Given the description of an element on the screen output the (x, y) to click on. 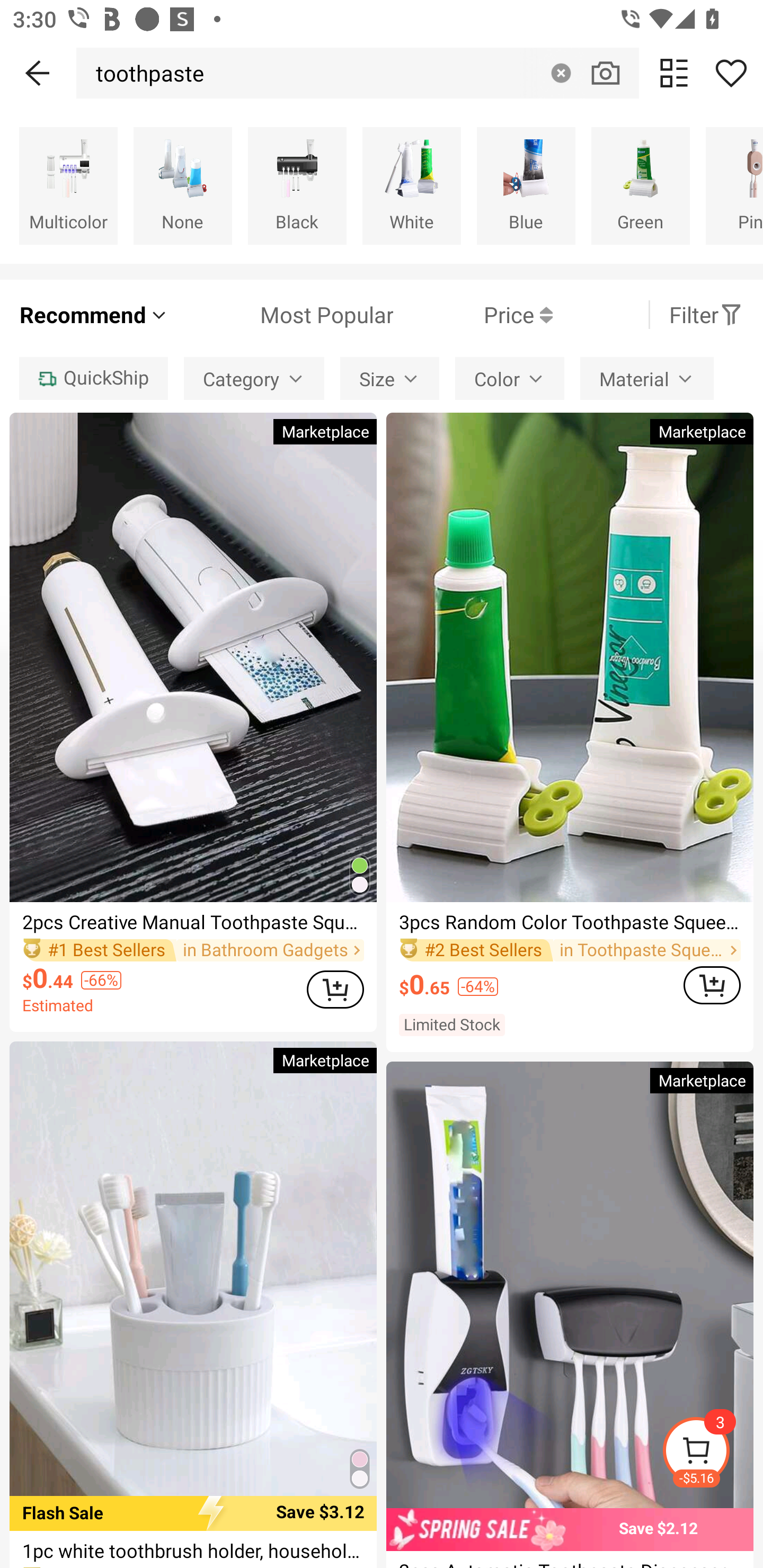
toothpaste (144, 72)
Clear (560, 72)
change view (673, 72)
Share (730, 72)
Multicolor (68, 185)
None (182, 185)
Black (296, 185)
White (411, 185)
Blue (525, 185)
Green (640, 185)
Pink (734, 185)
Recommend (94, 314)
Most Popular (280, 314)
Price (472, 314)
Filter (705, 314)
QuickShip (93, 378)
Category (253, 378)
Size (389, 378)
Color (509, 378)
Material (646, 378)
#1 Best Sellers in Bathroom Gadgets (192, 949)
#2 Best Sellers in Toothpaste Squeezers (569, 949)
ADD TO CART (711, 985)
ADD TO CART (334, 989)
-$5.16 (712, 1452)
